Given the description of an element on the screen output the (x, y) to click on. 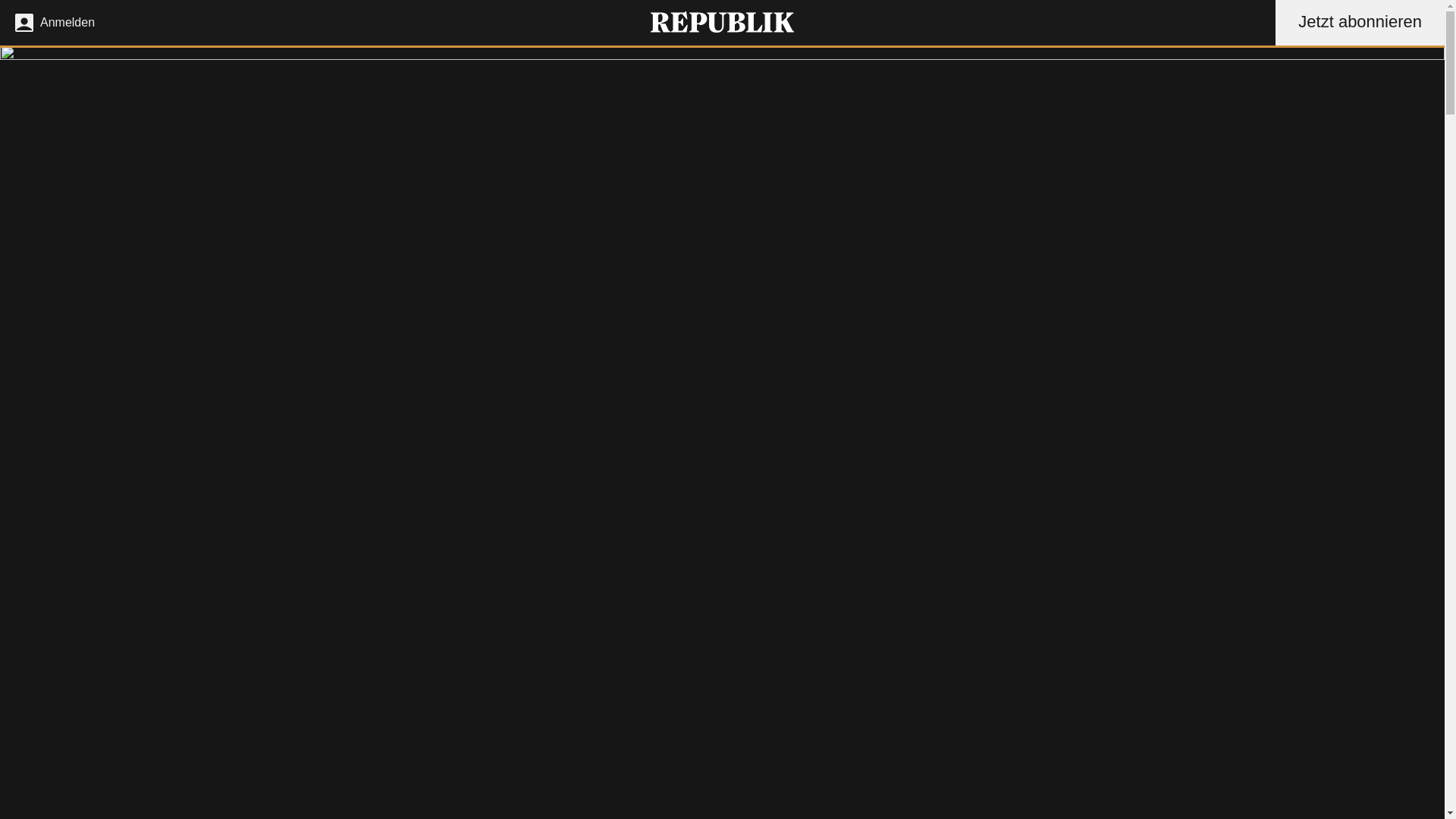
Anmelden (52, 22)
